Given the description of an element on the screen output the (x, y) to click on. 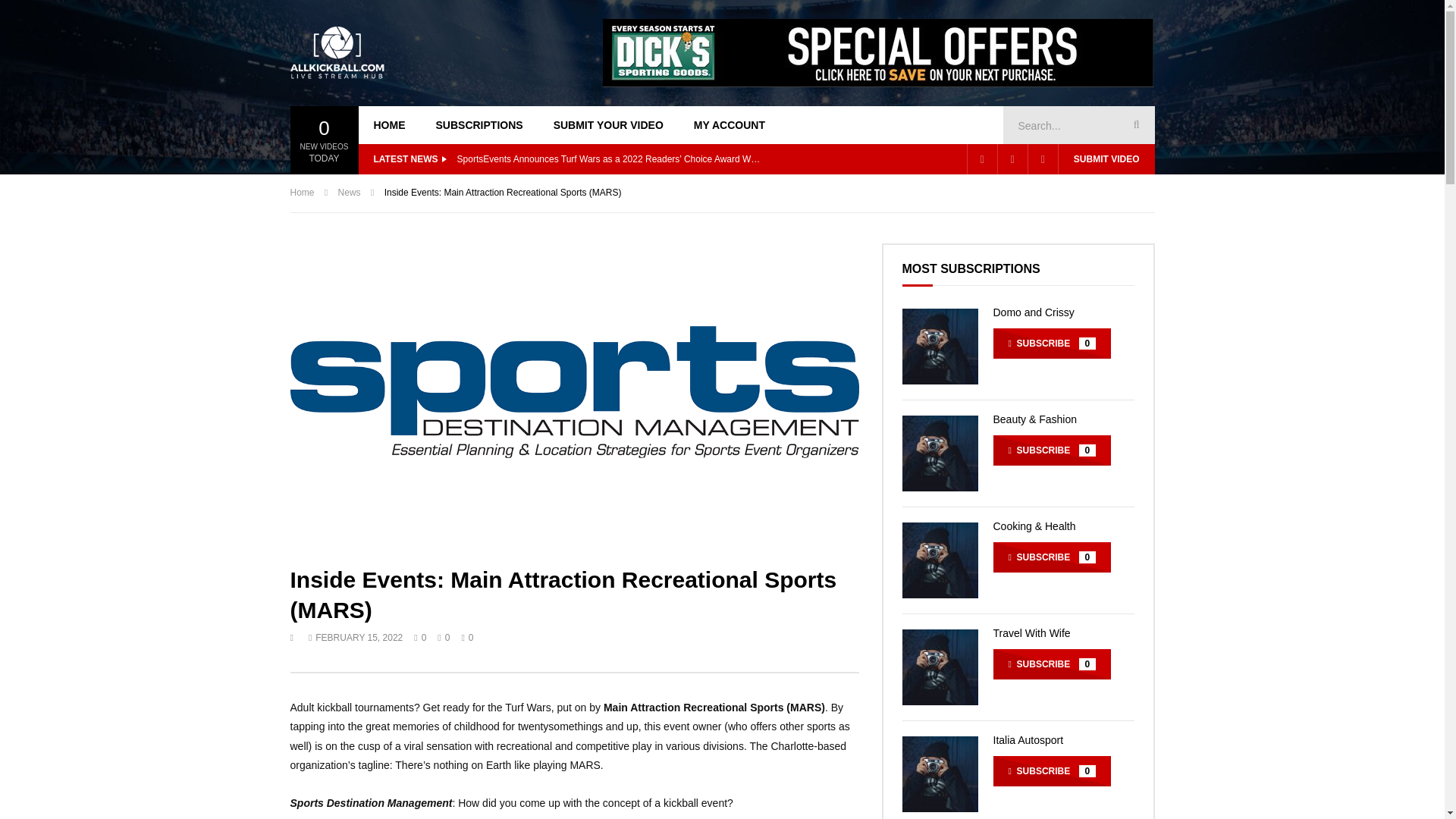
SUBSCRIPTIONS (478, 125)
Notifications (1012, 159)
HOME (389, 125)
Watch later (981, 159)
MY ACCOUNT (729, 125)
Search (1133, 125)
Search (1133, 125)
AWordPressSite (336, 52)
SUBMIT VIDEO (1106, 159)
News (349, 192)
Home (301, 192)
SUBMIT YOUR VIDEO (608, 125)
